Given the description of an element on the screen output the (x, y) to click on. 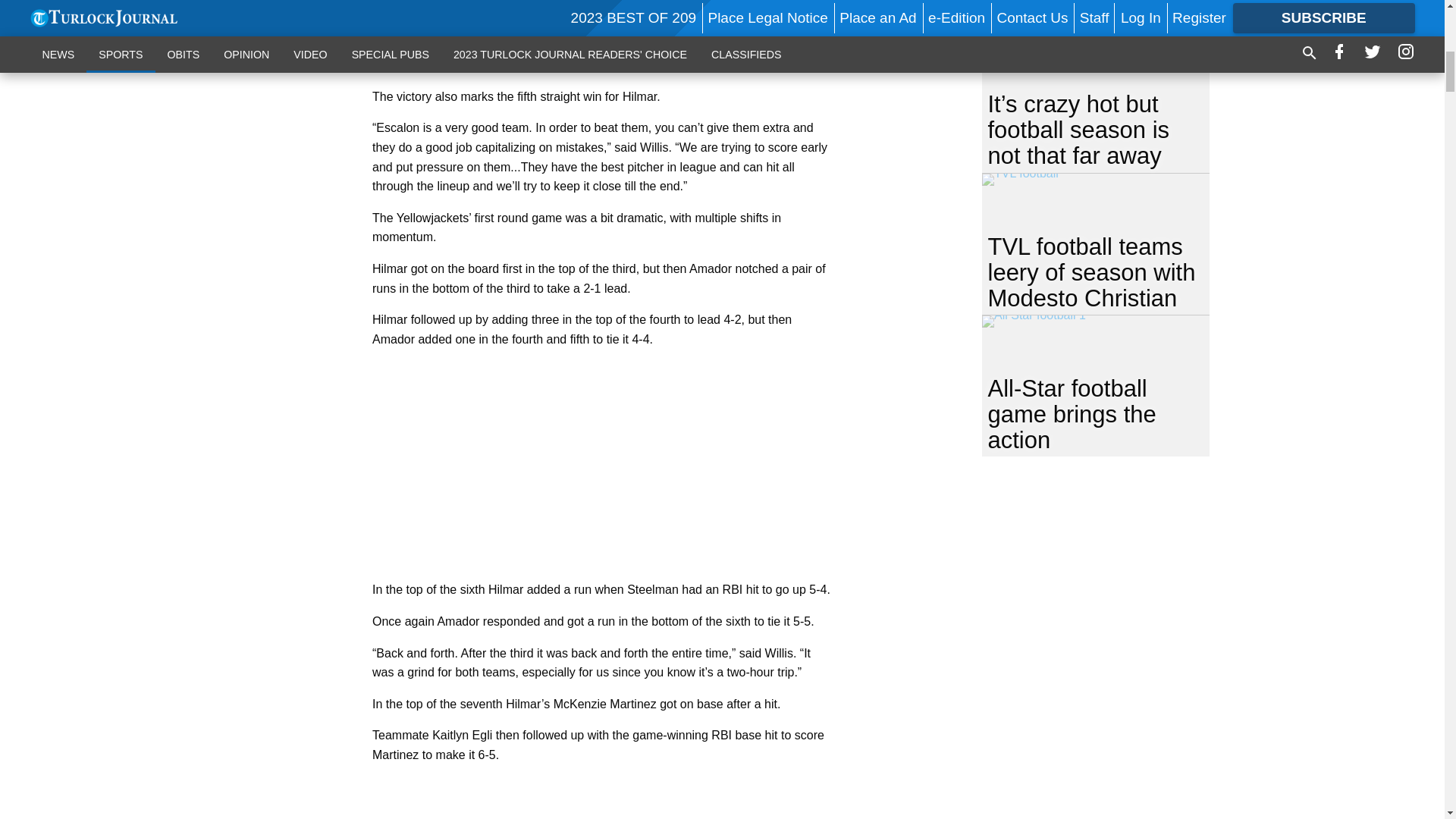
3rd party ad content (602, 34)
